Given the description of an element on the screen output the (x, y) to click on. 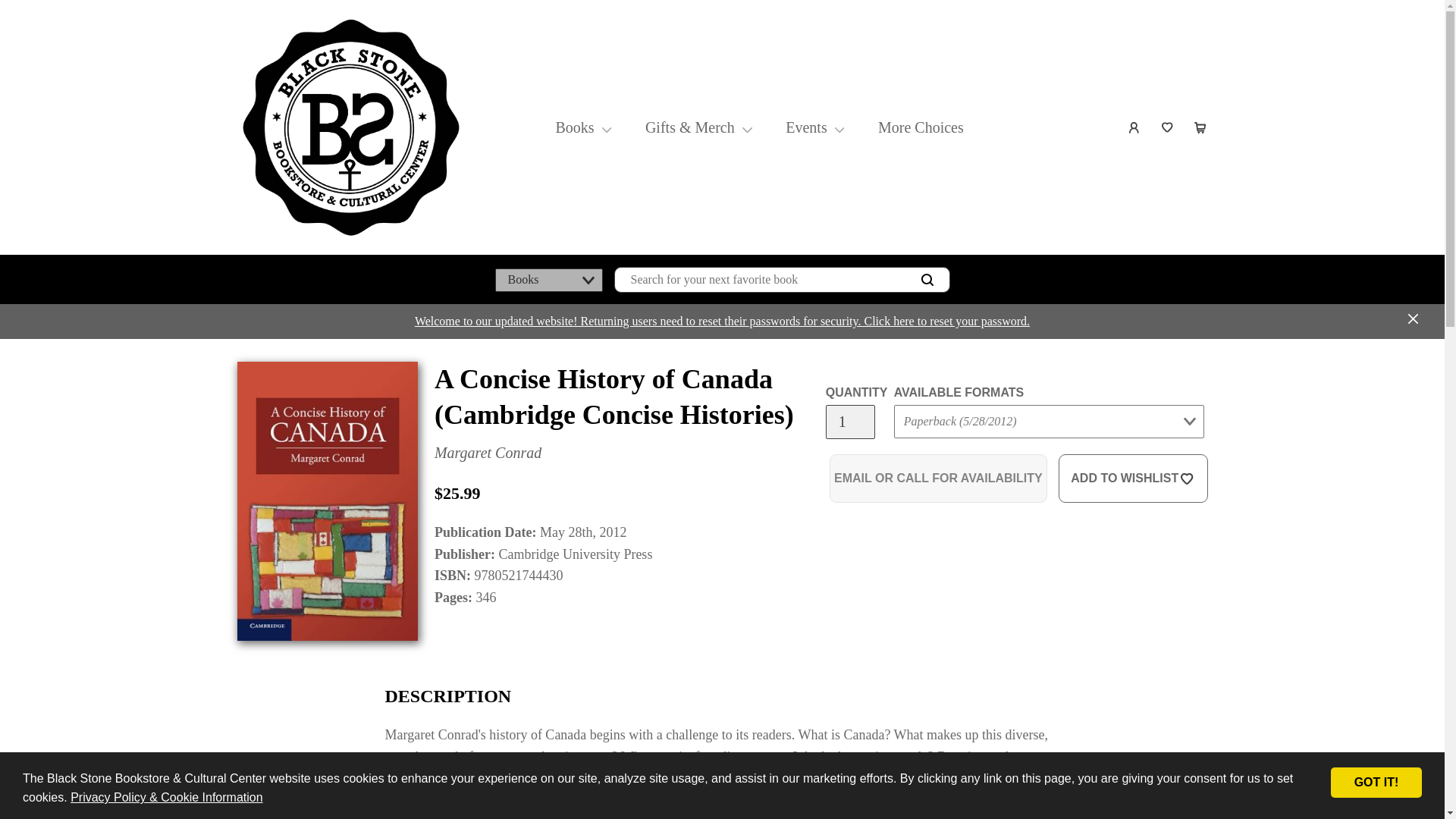
Wishlist (1168, 127)
Margaret Conrad (487, 452)
Log in (1134, 127)
1 (850, 421)
Cart (1201, 127)
Email or Call for Availability (937, 478)
SEARCH (926, 279)
Submit (922, 452)
Email or Call for Availability (937, 478)
Cart (1201, 127)
Log in (1134, 127)
ADD TO WISHLIST (1133, 478)
Wishlists (1168, 127)
